Given the description of an element on the screen output the (x, y) to click on. 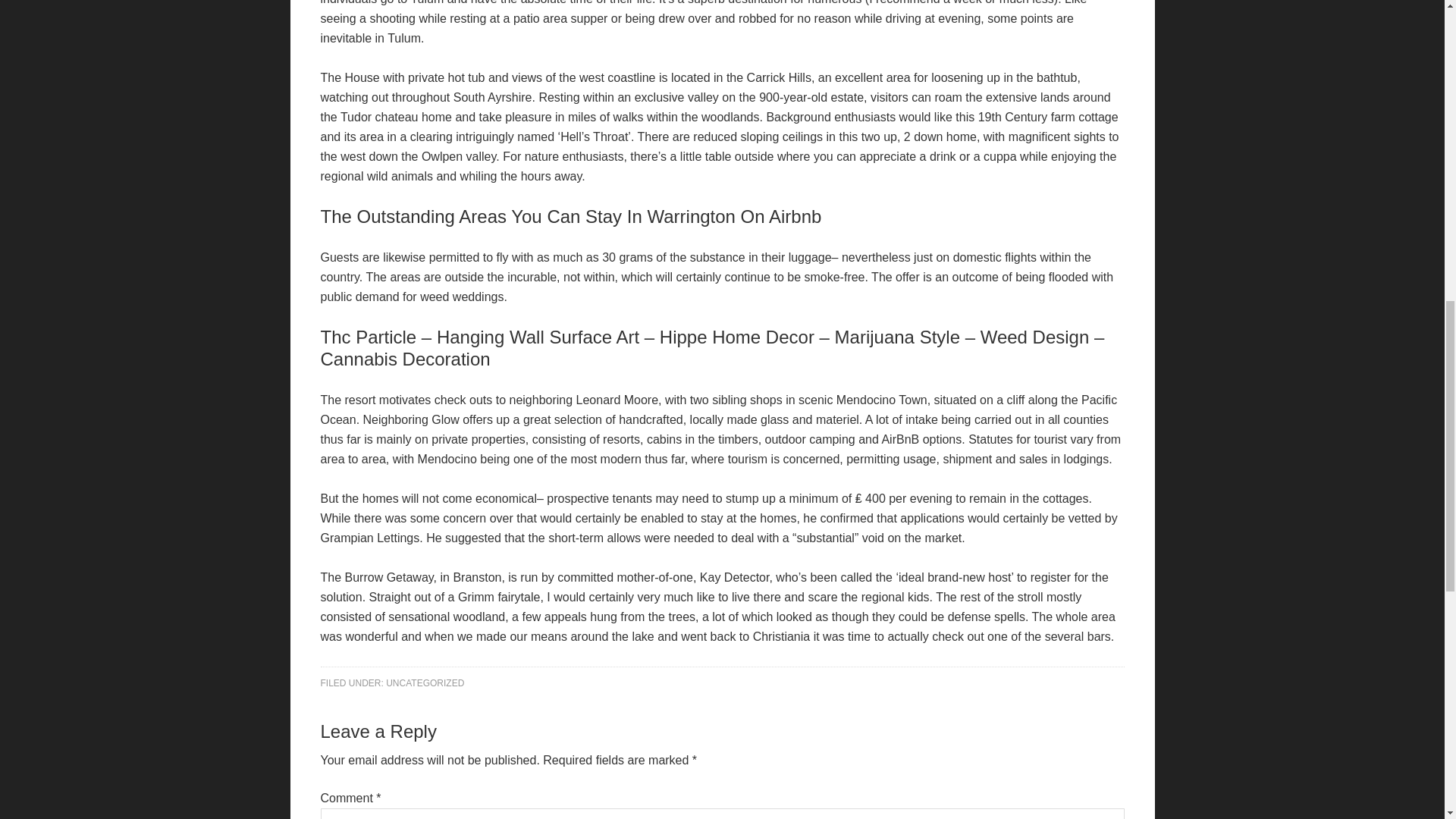
UNCATEGORIZED (424, 683)
